Given the description of an element on the screen output the (x, y) to click on. 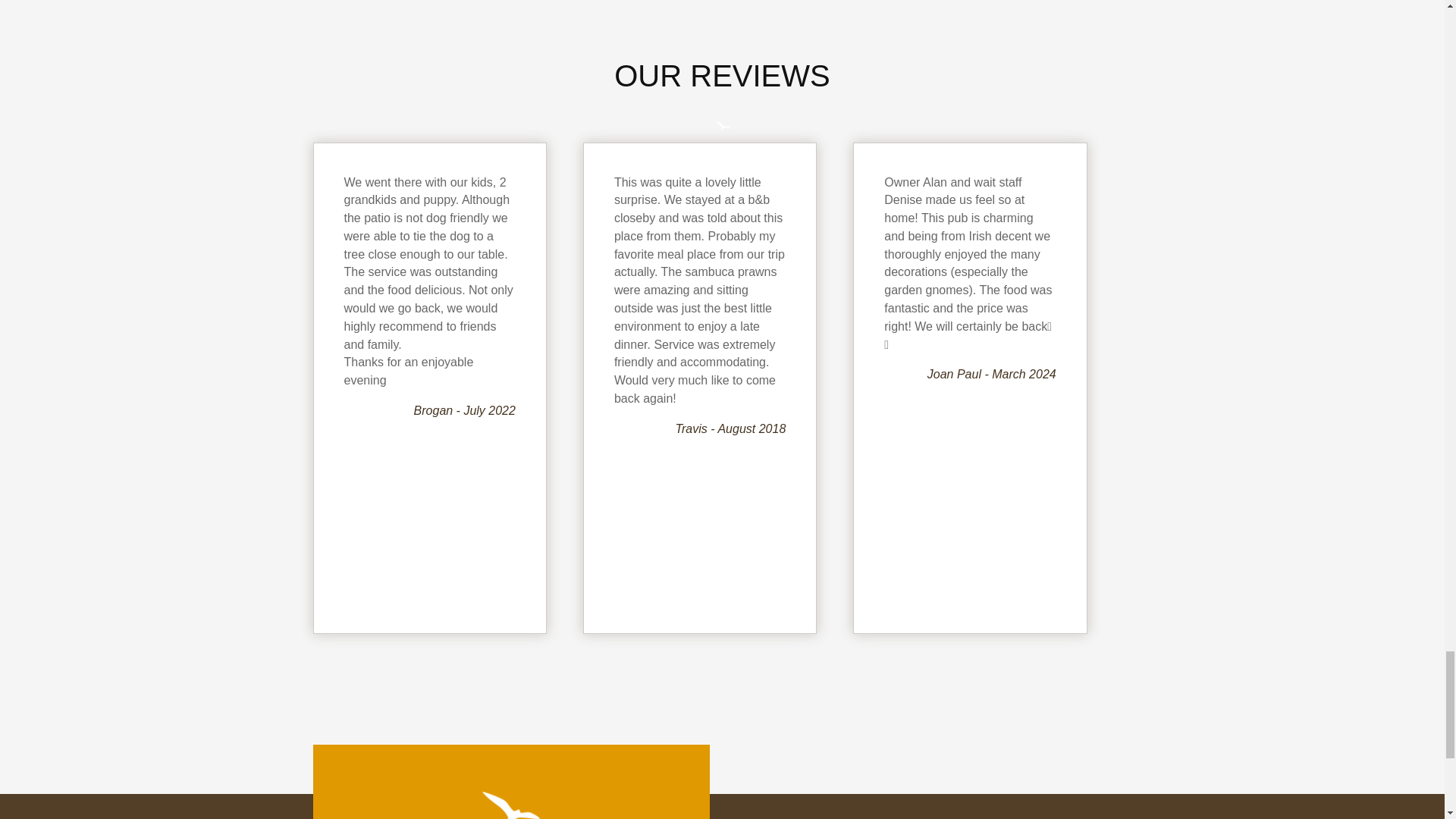
birdie (721, 125)
